Given the description of an element on the screen output the (x, y) to click on. 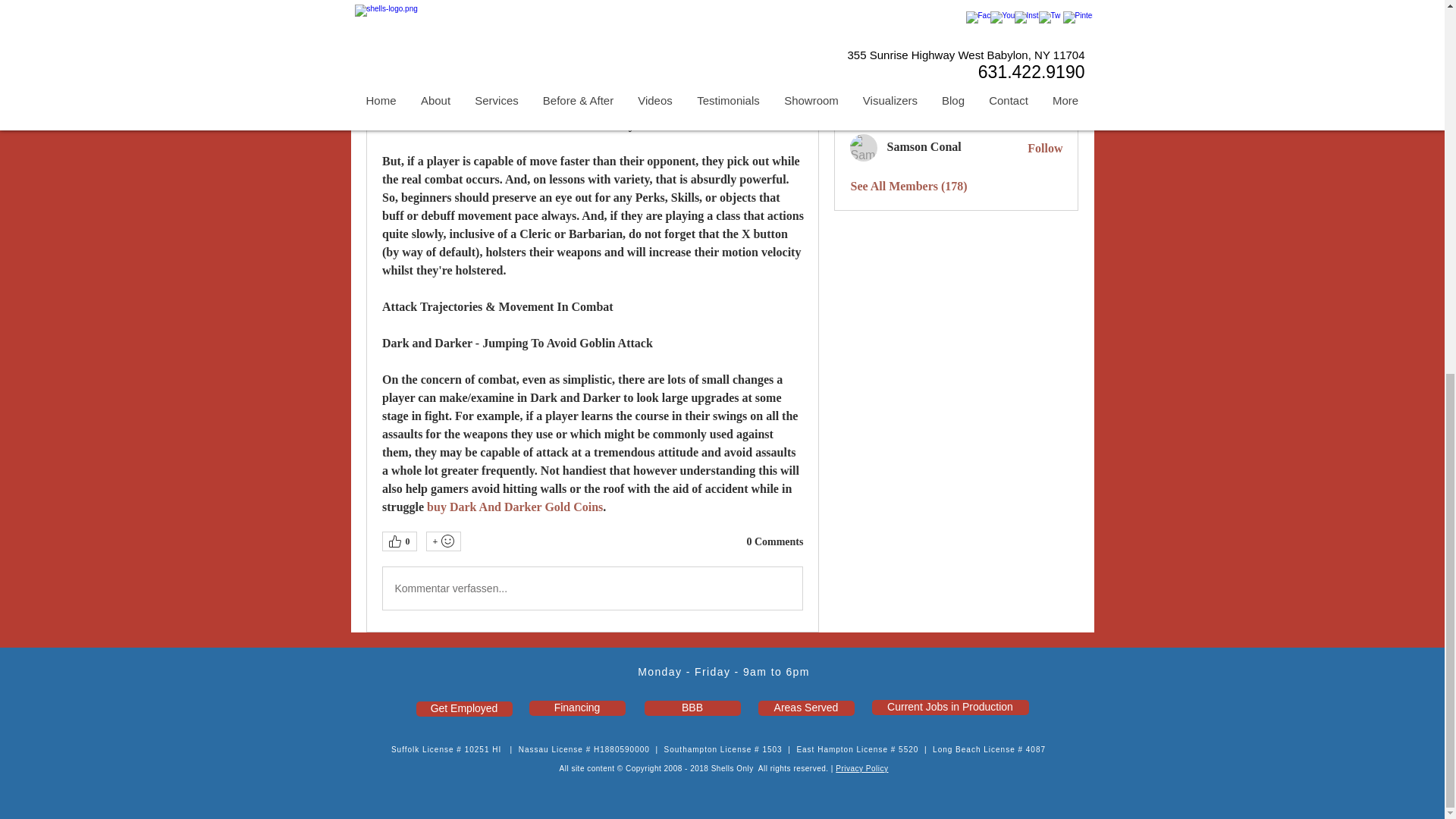
Samson Conal (863, 147)
nefertarivivi2370 (863, 36)
Sarah Thompson (863, 72)
Shells Marketing (863, 7)
